Given the description of an element on the screen output the (x, y) to click on. 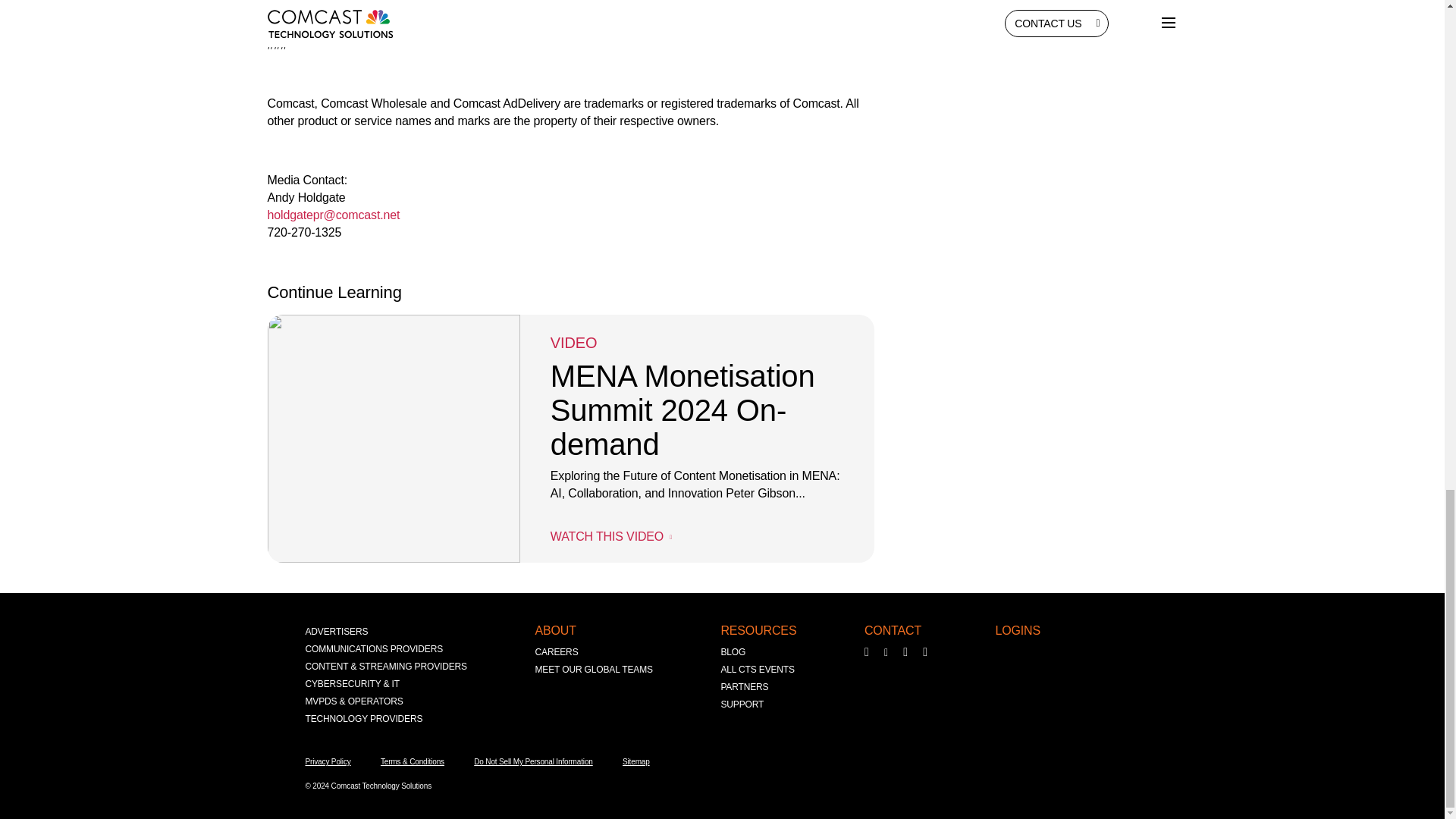
ADVERTISERS (336, 631)
TECHNOLOGY PROVIDERS (363, 719)
COMMUNICATIONS PROVIDERS (373, 649)
CAREERS (556, 651)
RESOURCES (758, 630)
WATCH THIS VIDEO (610, 536)
ABOUT (555, 630)
MEET OUR GLOBAL TEAMS (593, 669)
BLOG (732, 651)
MENA Monetisation Summit 2024 On-demand (682, 415)
